Given the description of an element on the screen output the (x, y) to click on. 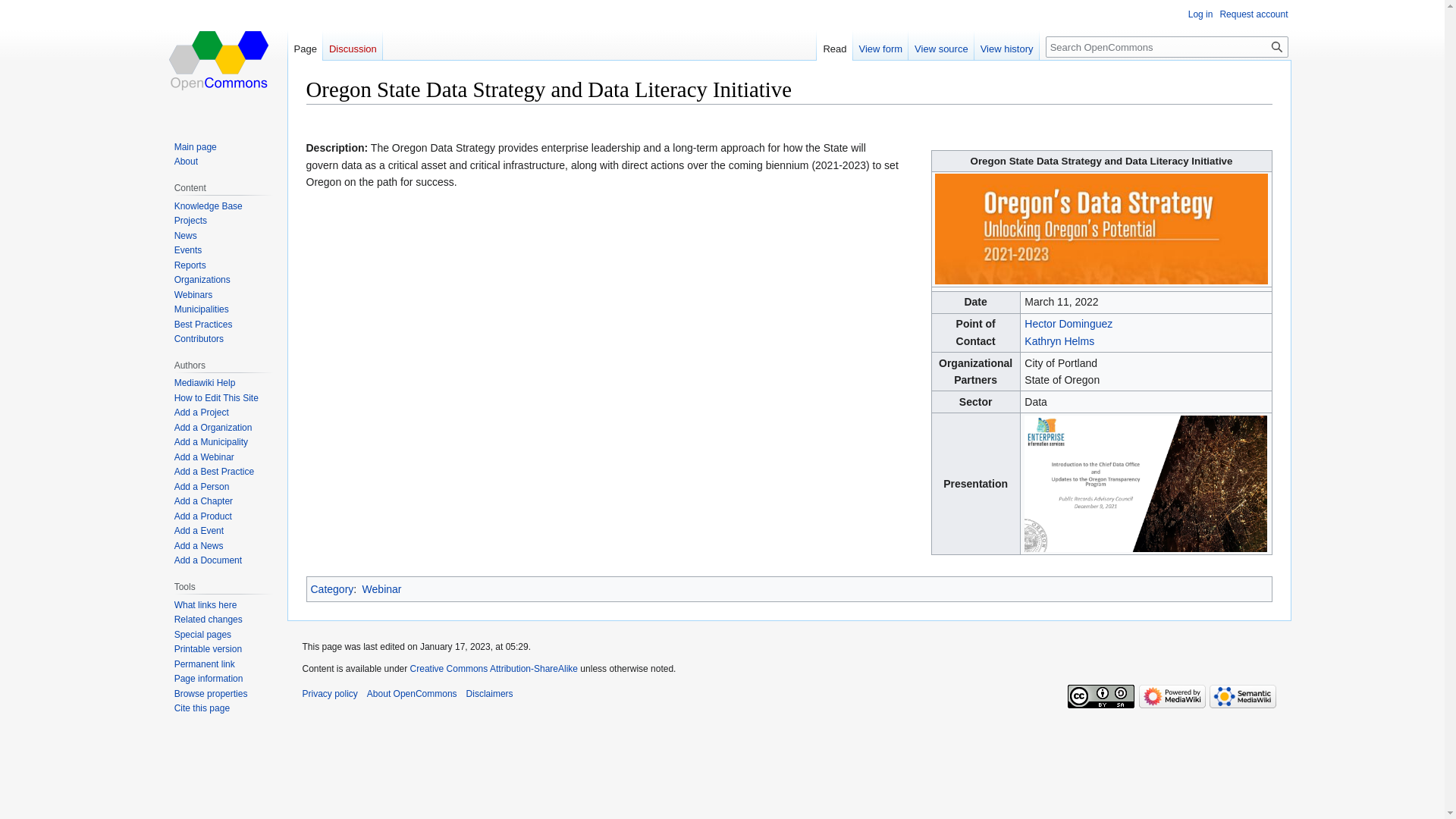
Play video (548, 331)
Hector Dominguez (1068, 323)
Add a Webinar (204, 457)
About (186, 161)
Add a Best Practice (213, 471)
Webinar (381, 589)
News (185, 235)
Category (332, 589)
Best Practices (203, 324)
Read (833, 45)
Projects (190, 220)
Add a Organization (212, 427)
Kathryn Helms (1059, 340)
View form (880, 45)
Category:Webinar (381, 589)
